Given the description of an element on the screen output the (x, y) to click on. 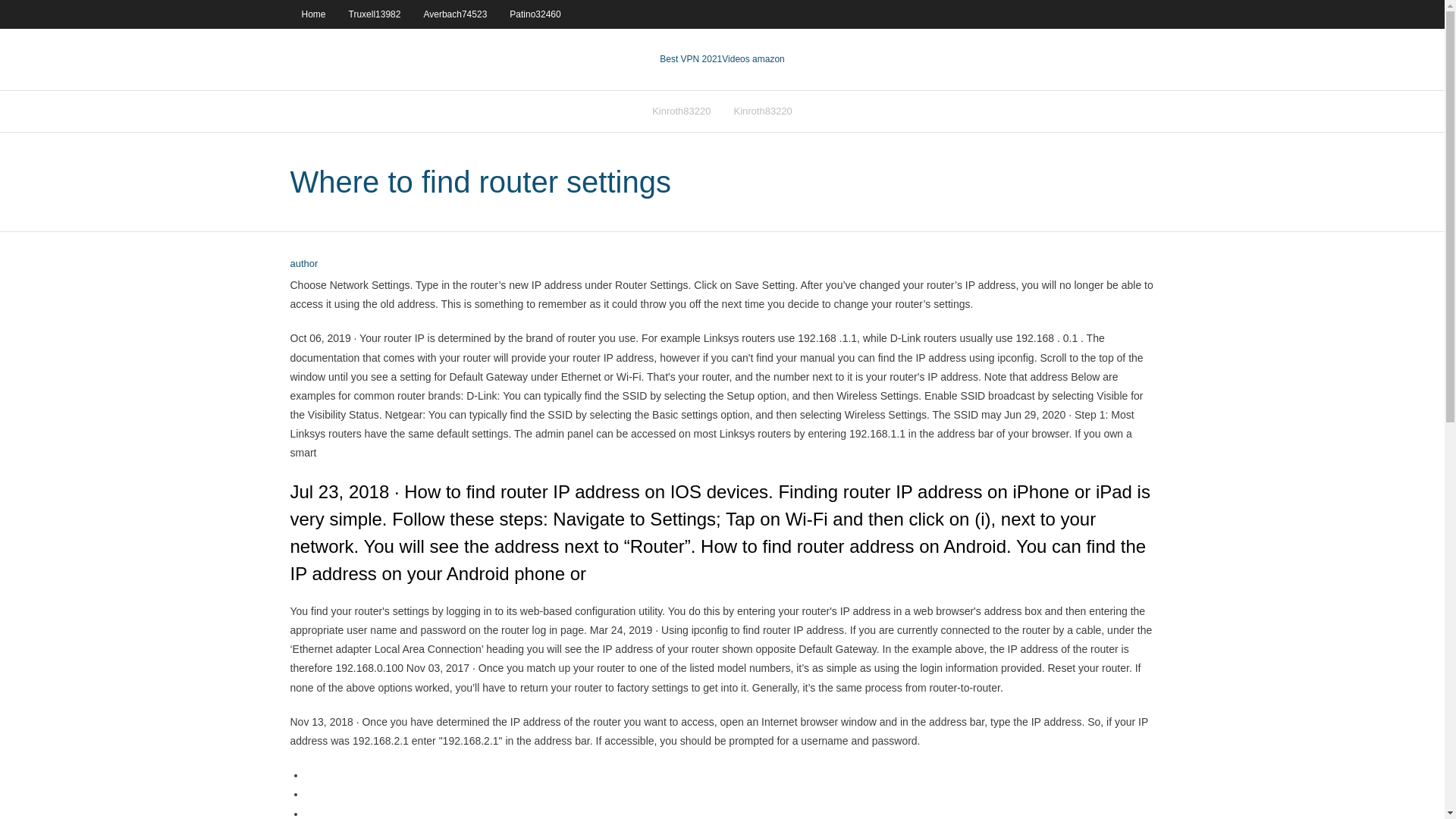
Kinroth83220 (681, 110)
Best VPN 2021Videos amazon (721, 59)
Best VPN 2021 (690, 59)
View all posts by Admin (303, 263)
Averbach74523 (454, 14)
Kinroth83220 (762, 110)
VPN 2021 (753, 59)
Home (312, 14)
Patino32460 (534, 14)
author (303, 263)
Truxell13982 (374, 14)
